Given the description of an element on the screen output the (x, y) to click on. 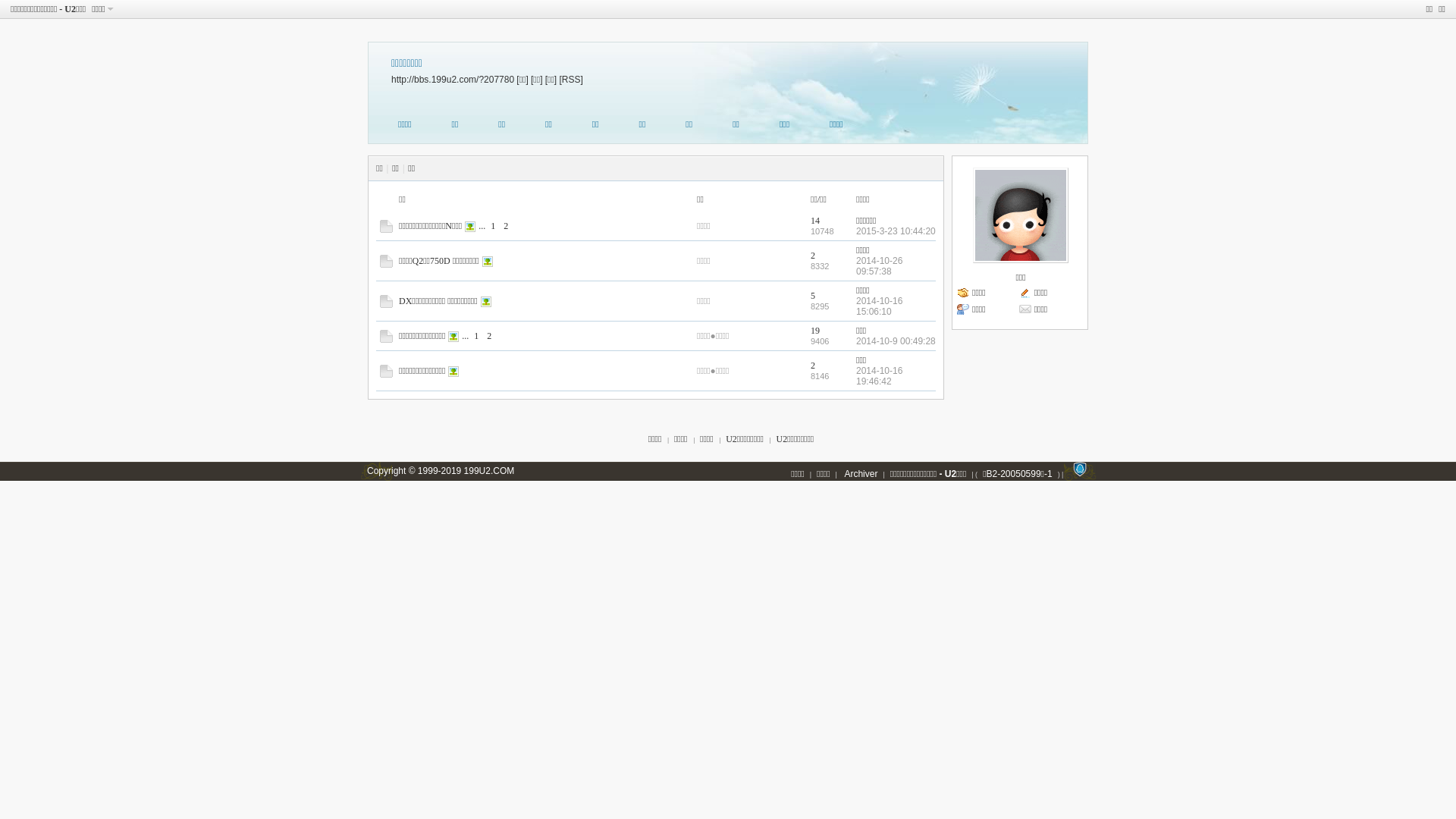
14 Element type: text (814, 220)
2014-10-16 19:46:42 Element type: text (879, 375)
2 Element type: text (812, 255)
19 Element type: text (814, 330)
2014-10-16 15:06:10 Element type: text (879, 305)
2015-3-23 10:44:20 Element type: text (895, 230)
2 Element type: text (812, 365)
2 Element type: text (488, 335)
1 Element type: text (475, 335)
[RSS] Element type: text (570, 79)
Archiver Element type: text (860, 473)
http://bbs.199u2.com/?207780 Element type: text (452, 79)
2014-10-9 00:49:28 Element type: text (895, 340)
2 Element type: text (505, 225)
2014-10-26 09:57:38 Element type: text (879, 265)
5 Element type: text (812, 295)
1 Element type: text (492, 225)
